Given the description of an element on the screen output the (x, y) to click on. 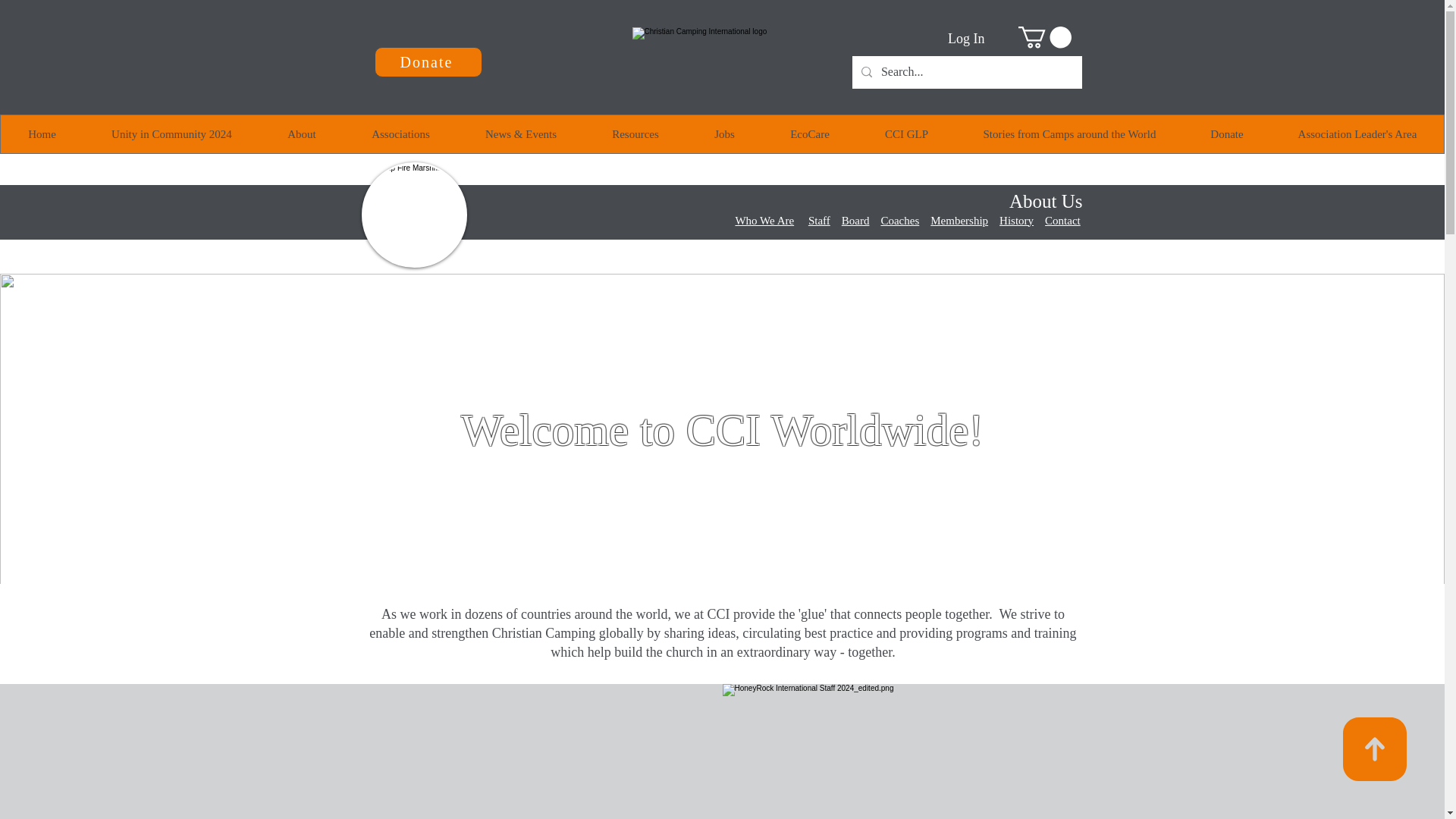
Log In (966, 39)
Unity in Community 2024 (170, 134)
Resources (634, 134)
About (301, 134)
Donate (427, 61)
Home (41, 134)
Associations (400, 134)
EcoCare (809, 134)
Jobs (723, 134)
CCI GLP (906, 134)
